Given the description of an element on the screen output the (x, y) to click on. 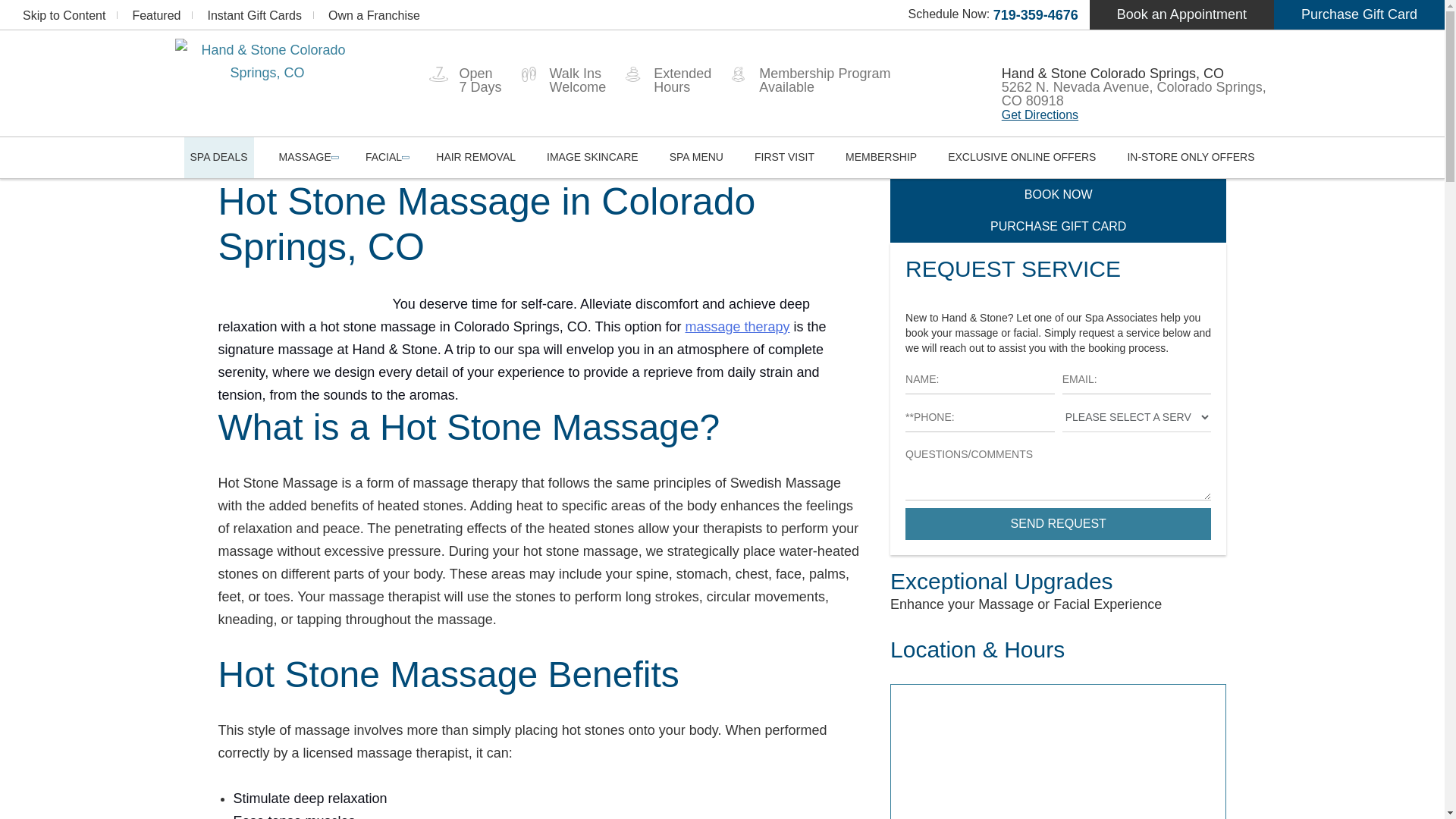
Featured (156, 15)
Instant Gift Cards (253, 15)
Skip to Content (63, 15)
Own a Franchise (374, 15)
